Given the description of an element on the screen output the (x, y) to click on. 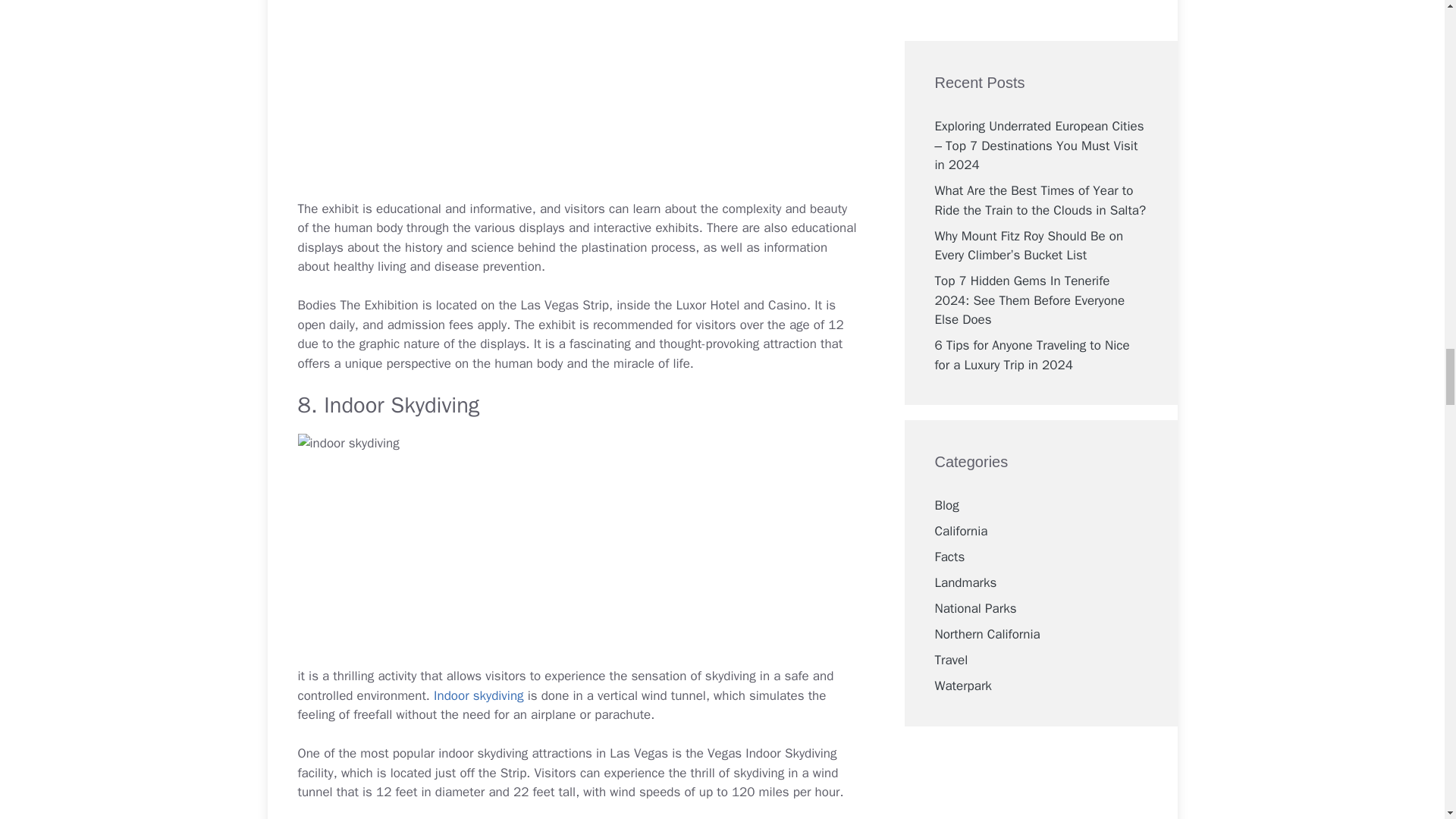
Indoor skydiving (476, 695)
